Given the description of an element on the screen output the (x, y) to click on. 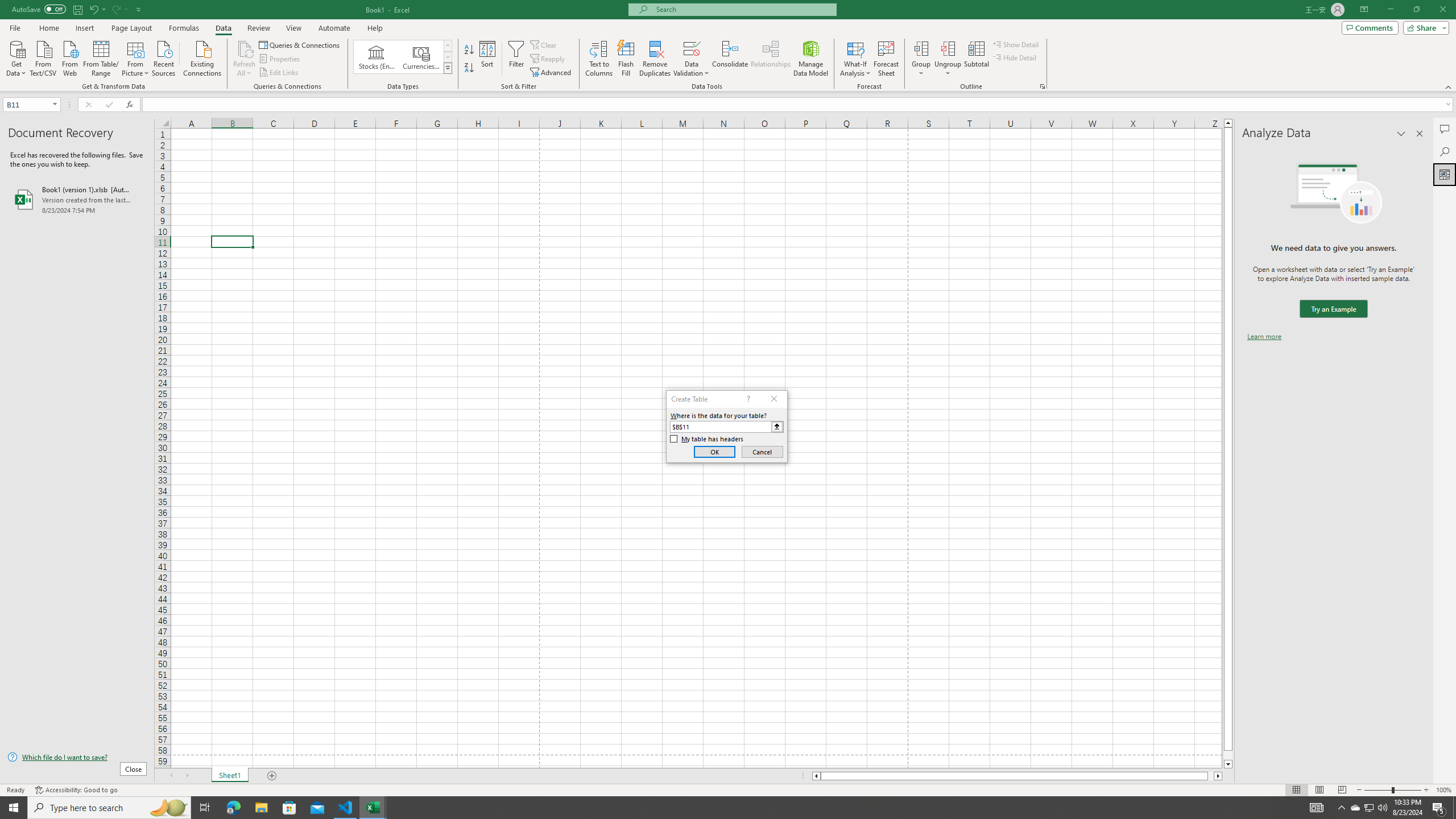
Sort... (487, 58)
Edit Links (279, 72)
